Given the description of an element on the screen output the (x, y) to click on. 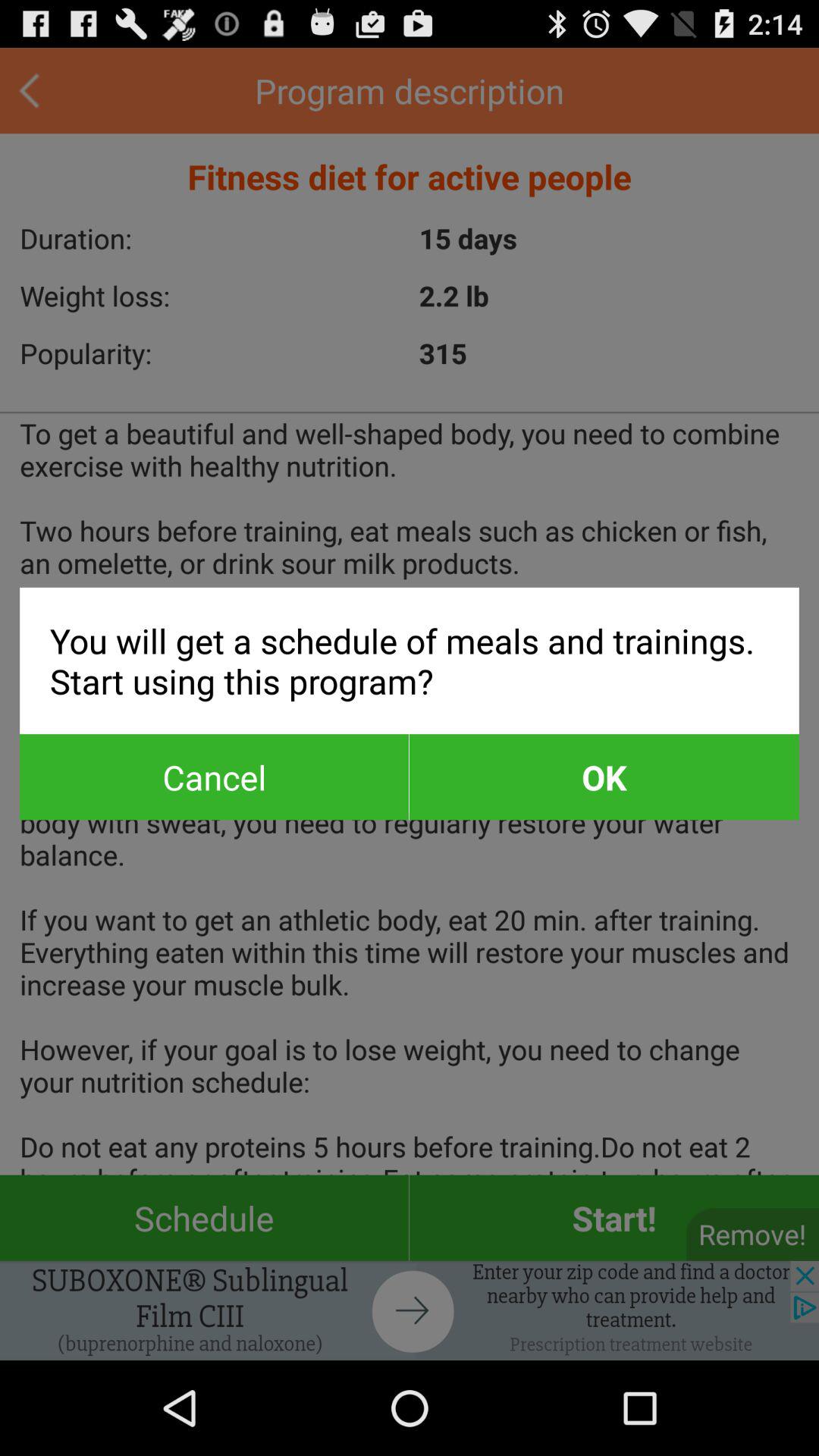
open app below you will get (213, 777)
